Given the description of an element on the screen output the (x, y) to click on. 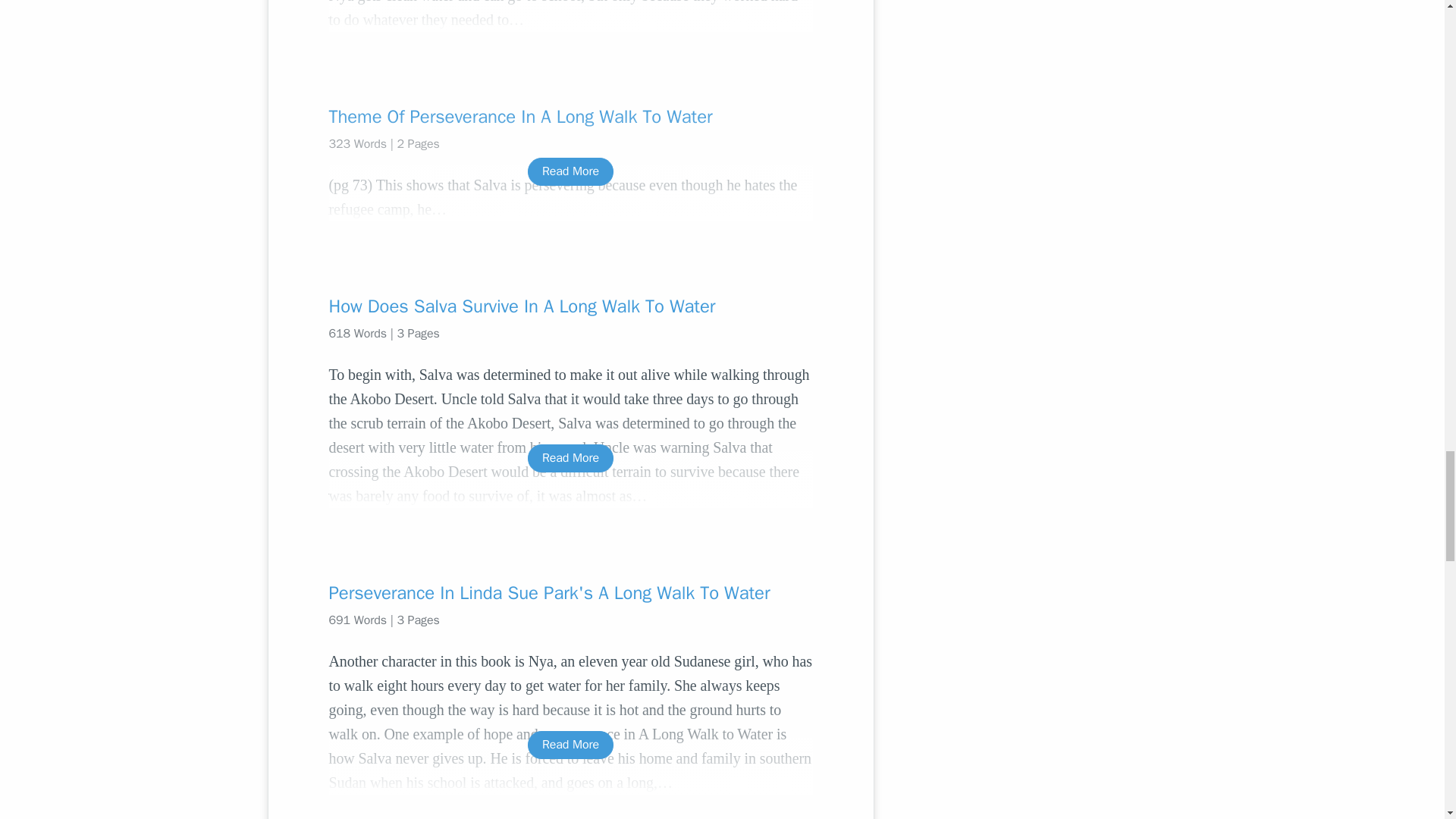
Theme Of Perseverance In A Long Walk To Water (570, 116)
Perseverance In Linda Sue Park's A Long Walk To Water (570, 592)
Read More (569, 745)
How Does Salva Survive In A Long Walk To Water (570, 306)
Read More (569, 171)
Read More (569, 458)
